Given the description of an element on the screen output the (x, y) to click on. 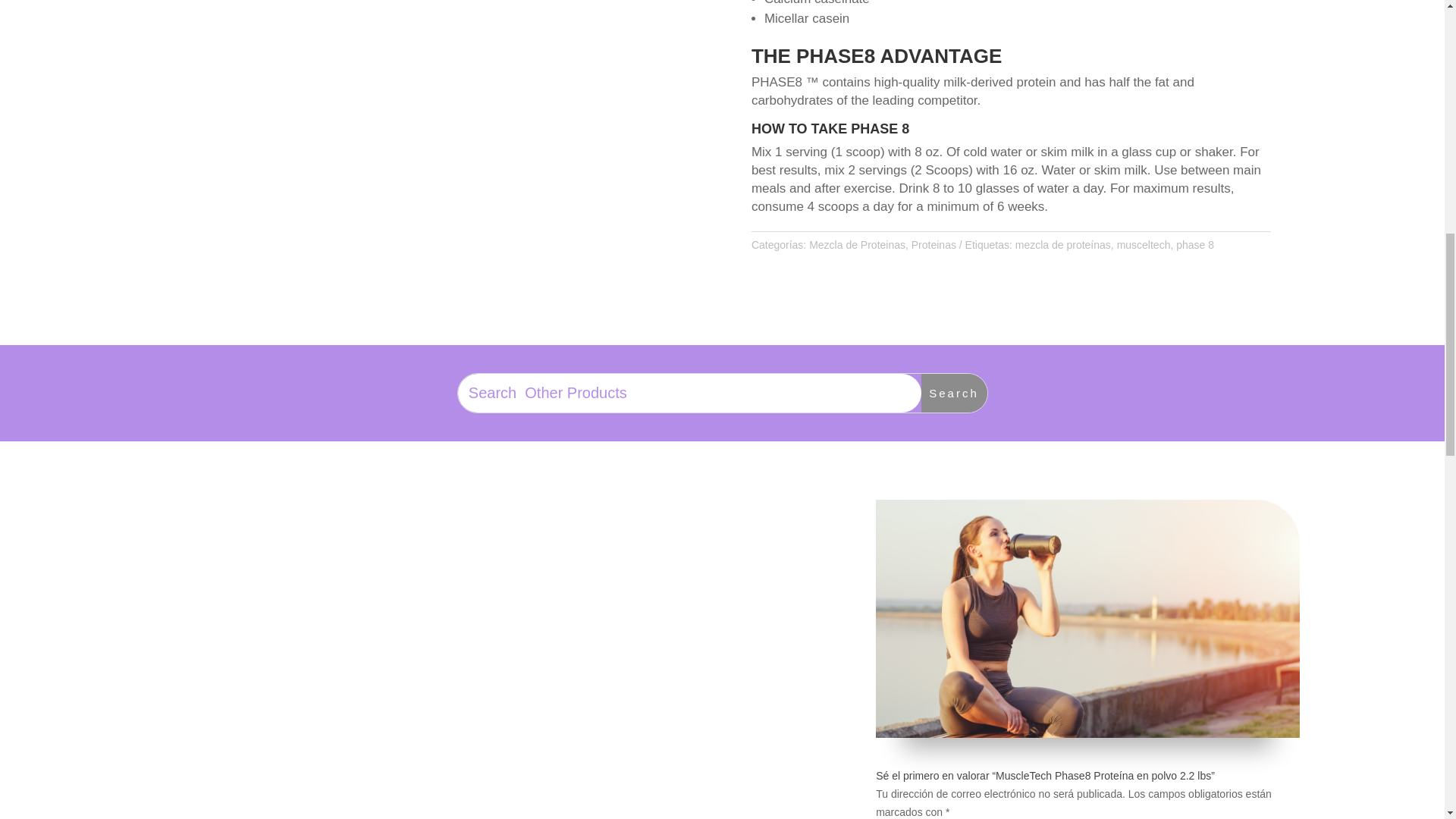
Search (954, 393)
Proteinas (933, 244)
Mezcla de Proteinas (857, 244)
musceltech (1143, 244)
best-protein-powders-for-women-1296x728-feature (1088, 618)
Search (954, 393)
phase 8 (1195, 244)
Search (954, 393)
